Given the description of an element on the screen output the (x, y) to click on. 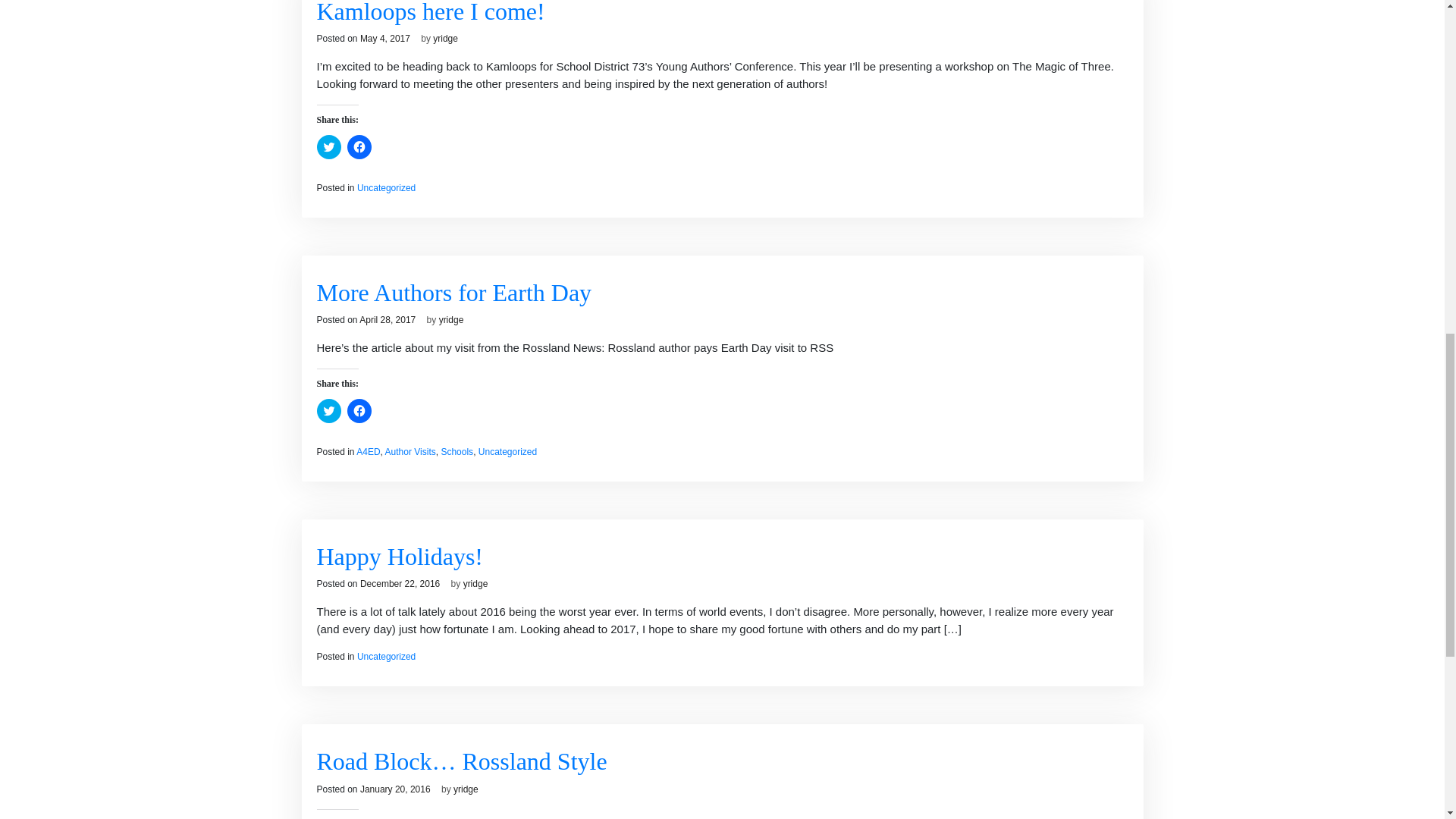
December 22, 2016 (399, 583)
Schools (457, 451)
Author Visits (410, 451)
More Authors for Earth Day (454, 292)
Uncategorized (385, 187)
Uncategorized (508, 451)
yridge (445, 38)
May 4, 2017 (384, 38)
A4ED (368, 451)
Happy Holidays! (400, 556)
